Given the description of an element on the screen output the (x, y) to click on. 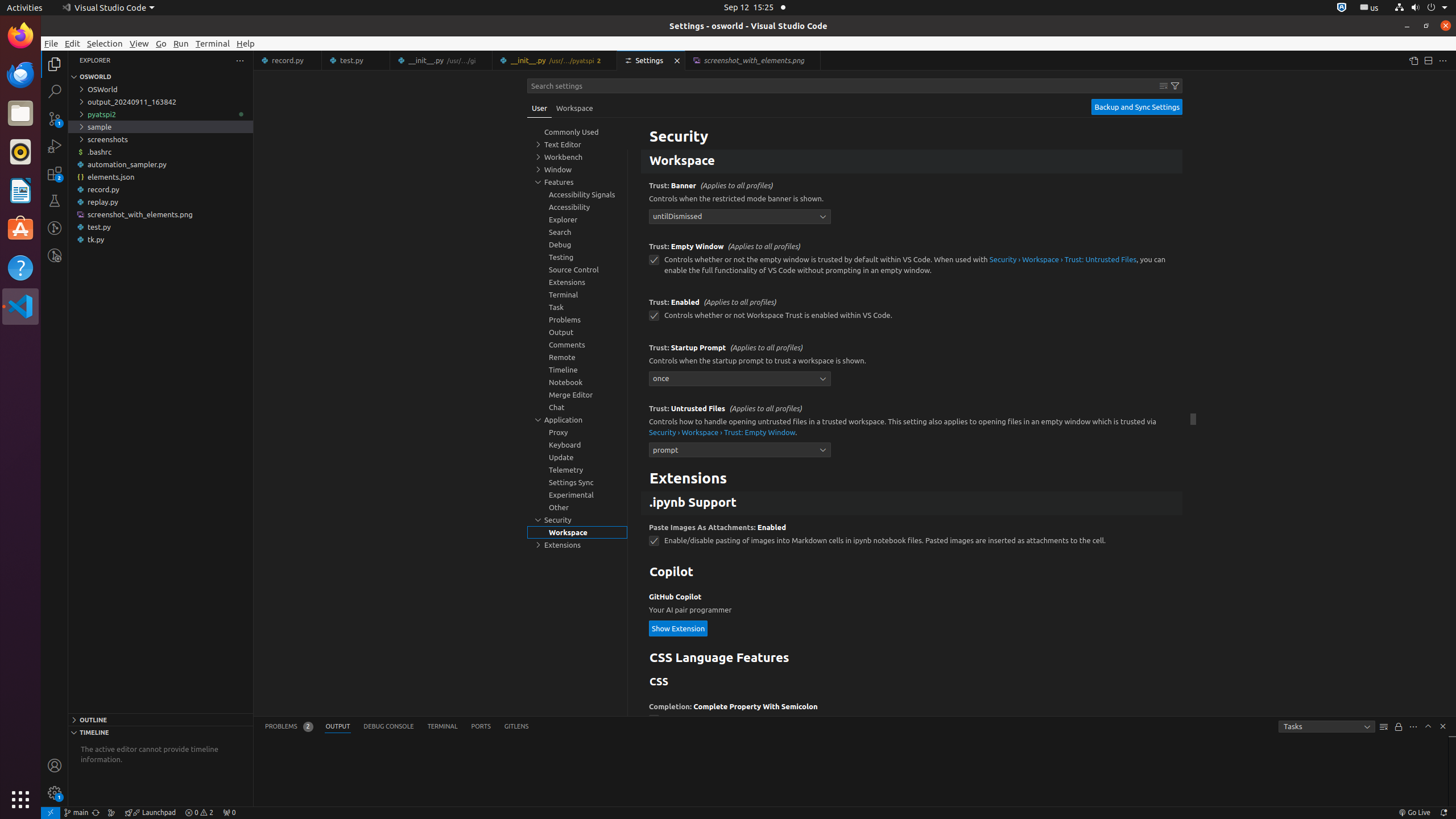
Commonly Used, group Element type: tree-item (577, 131)
Telemetry, group Element type: tree-item (577, 469)
automation_sampler.py Element type: tree-item (160, 164)
.bashrc Element type: tree-item (160, 151)
Search (Ctrl+Shift+F) Element type: page-tab (54, 91)
